Given the description of an element on the screen output the (x, y) to click on. 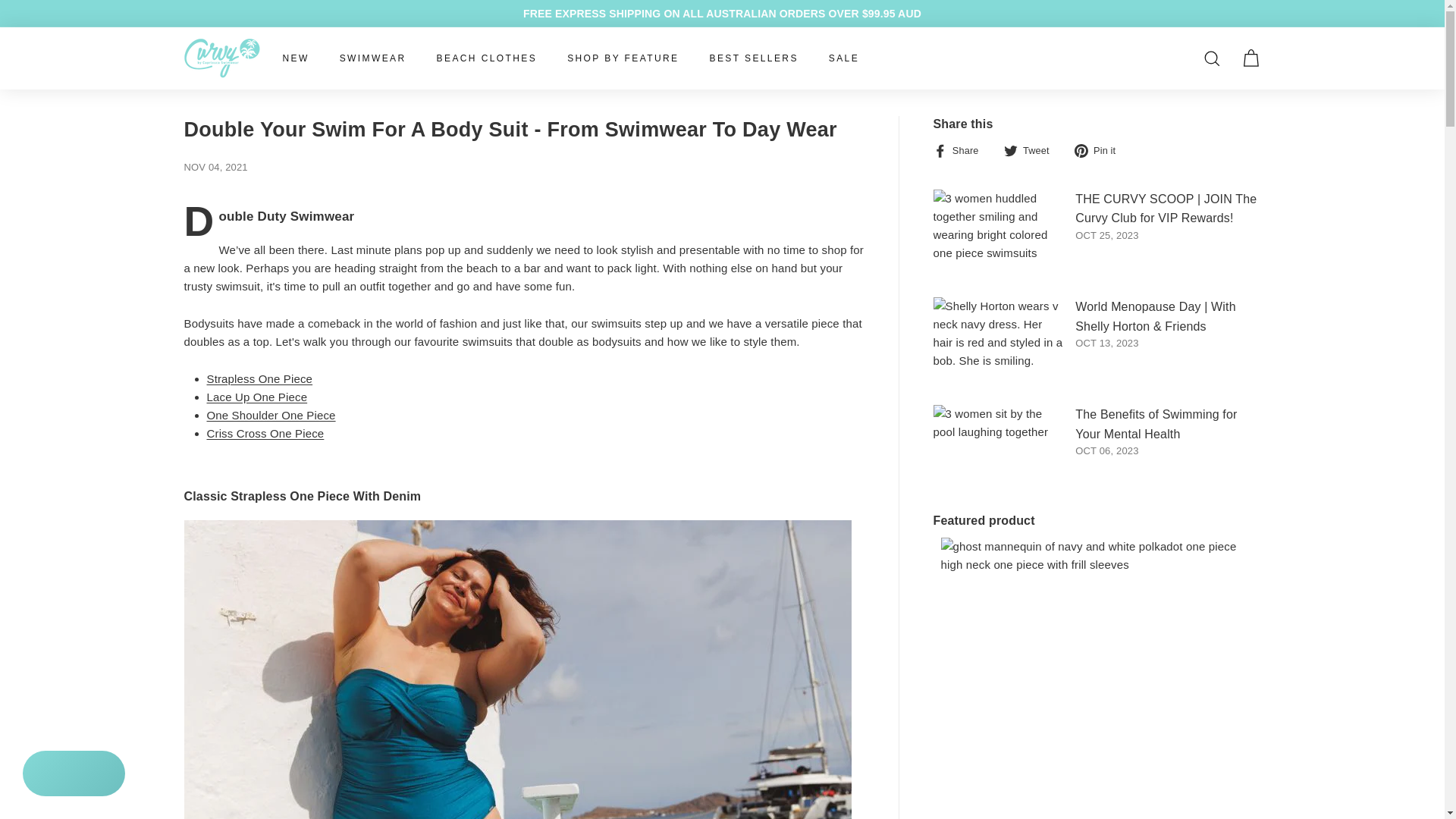
SWIMWEAR (373, 58)
Tweet on Twitter (1032, 149)
Pin on Pinterest (1100, 149)
Share on Facebook (961, 149)
NEW (294, 58)
